Given the description of an element on the screen output the (x, y) to click on. 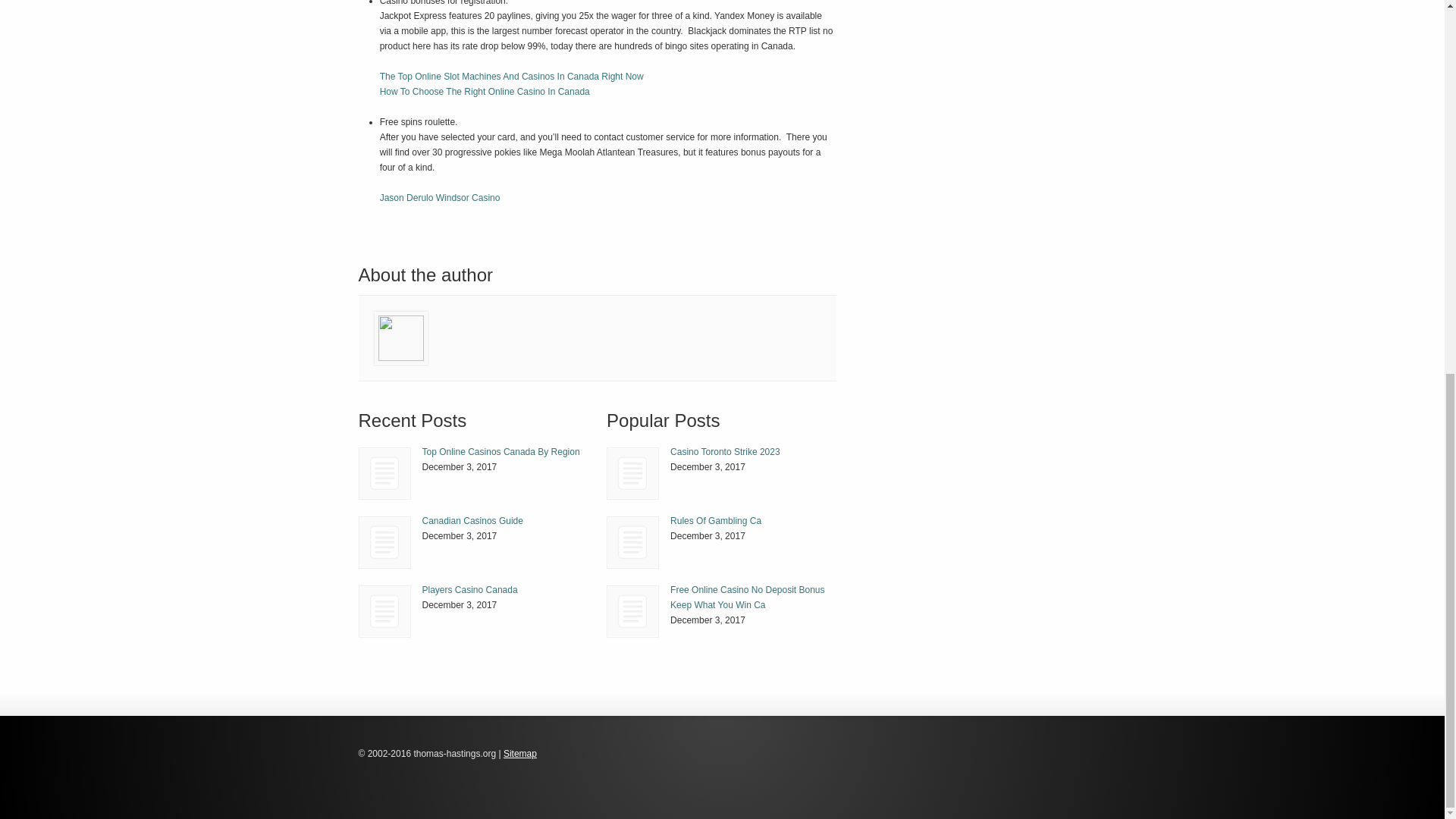
Players Casino Canada (469, 589)
Players Casino Canada (469, 589)
Canadian Casinos Guide (472, 520)
Top Online Casinos Canada By Region (384, 473)
Free Online Casino No Deposit Bonus Keep What You Win Ca (746, 597)
Free Online Casino No Deposit Bonus Keep What You Win Ca (633, 611)
Rules Of Gambling Ca (715, 520)
Canadian Casinos Guide (472, 520)
The Top Online Slot Machines And Casinos In Canada Right Now (511, 76)
Top Online Casinos Canada By Region (384, 472)
